Given the description of an element on the screen output the (x, y) to click on. 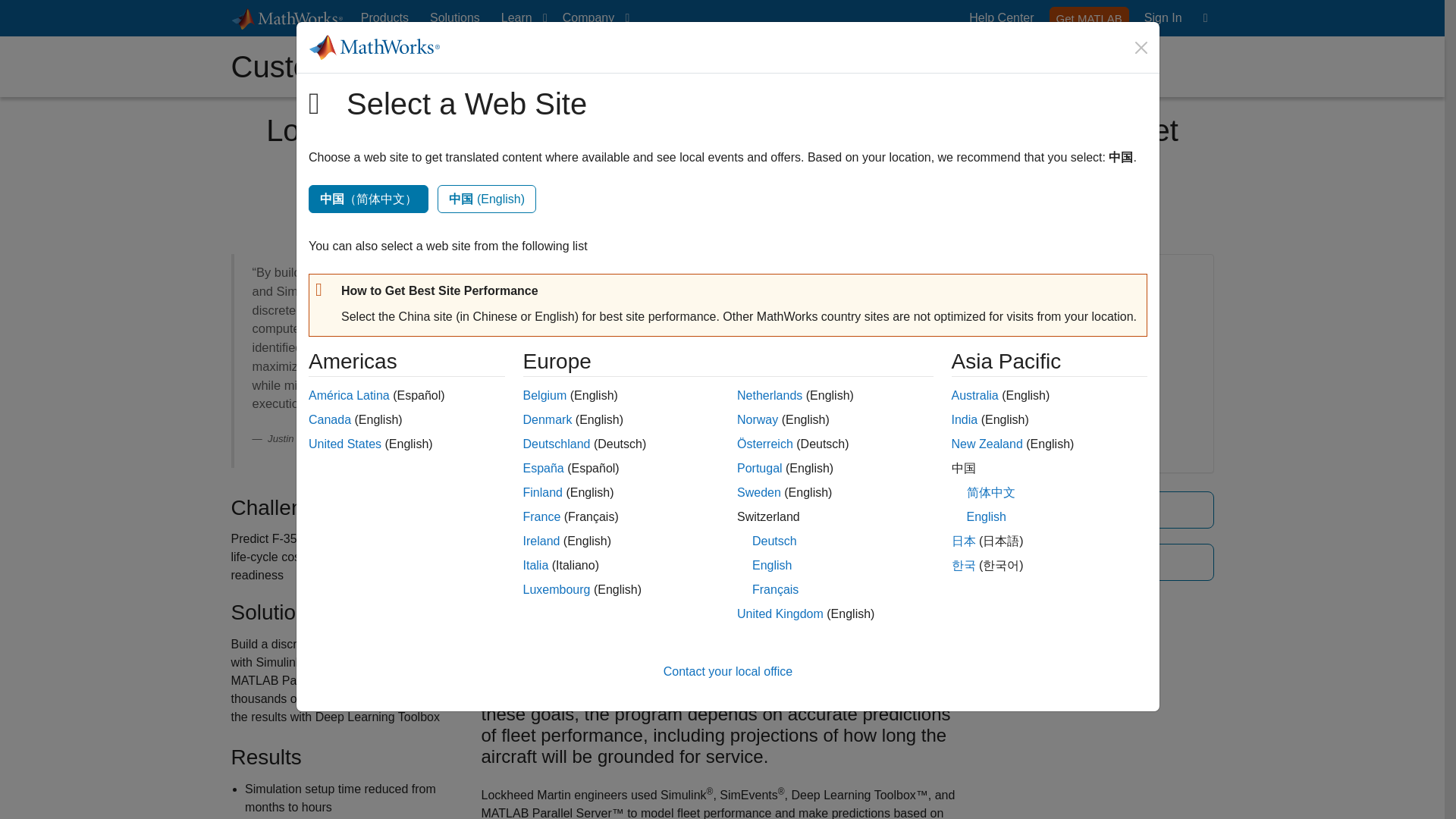
Company (592, 18)
Help Center (1163, 18)
Sign In to Your MathWorks Account (1000, 18)
Solutions (1163, 18)
Get MATLAB (454, 18)
Learn (1089, 17)
Products (521, 18)
